Given the description of an element on the screen output the (x, y) to click on. 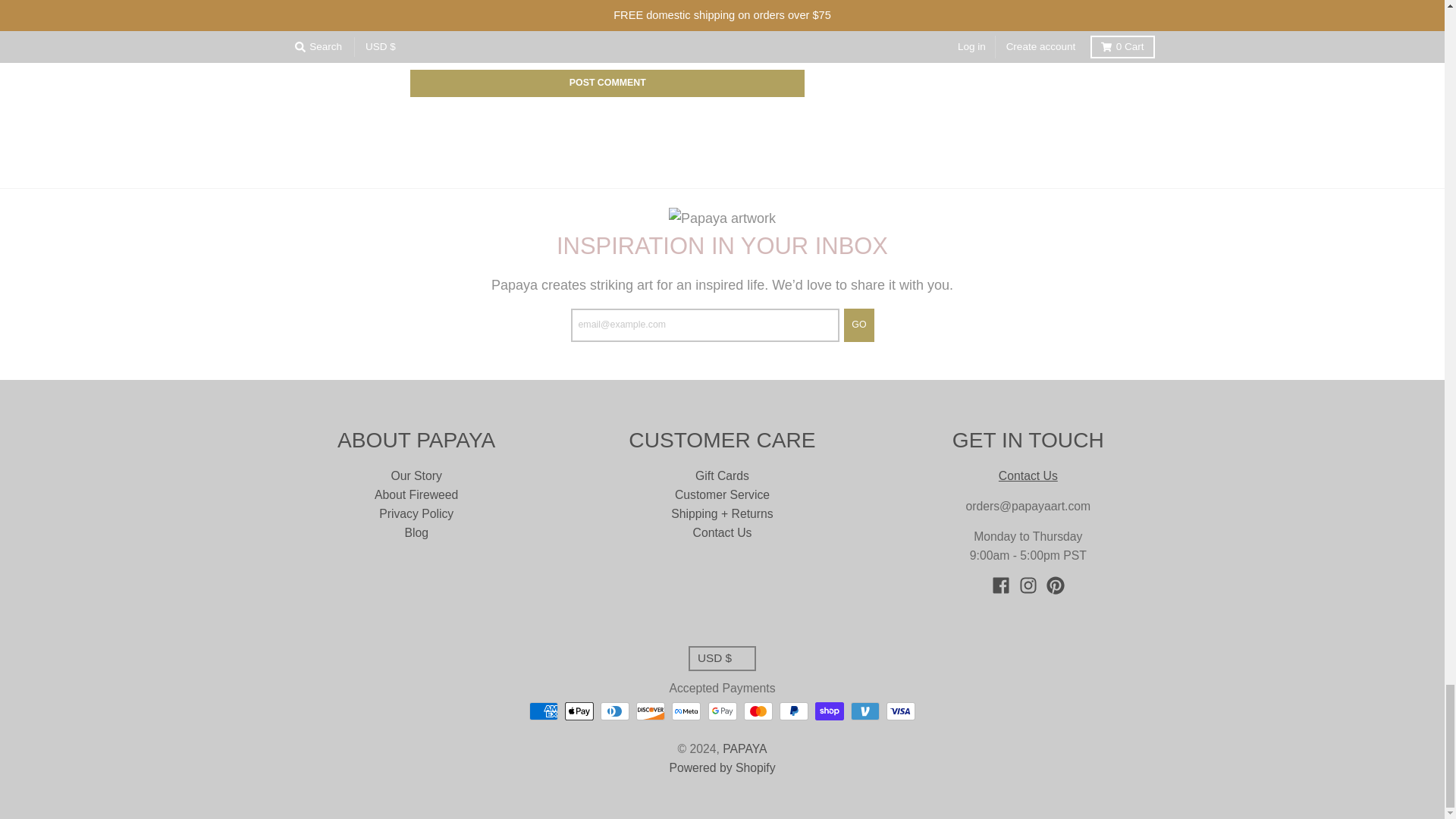
Pinterest - PAPAYA (1055, 585)
Facebook - PAPAYA (1000, 585)
Instagram - PAPAYA (1027, 585)
Post comment (607, 83)
